Given the description of an element on the screen output the (x, y) to click on. 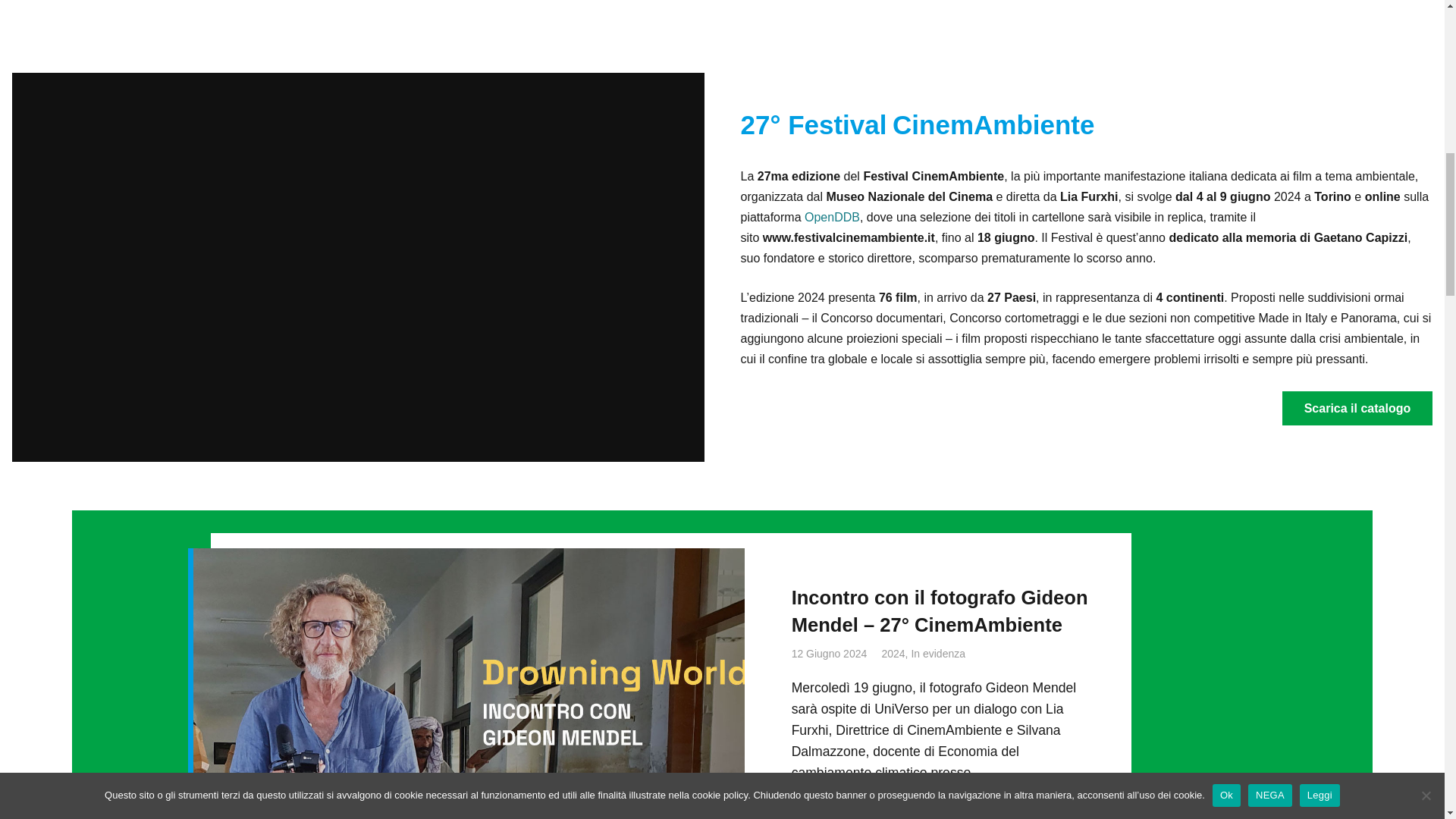
OpenDDB (832, 216)
Torna in cima (30, 30)
Scarica il catalogo (1357, 408)
